Given the description of an element on the screen output the (x, y) to click on. 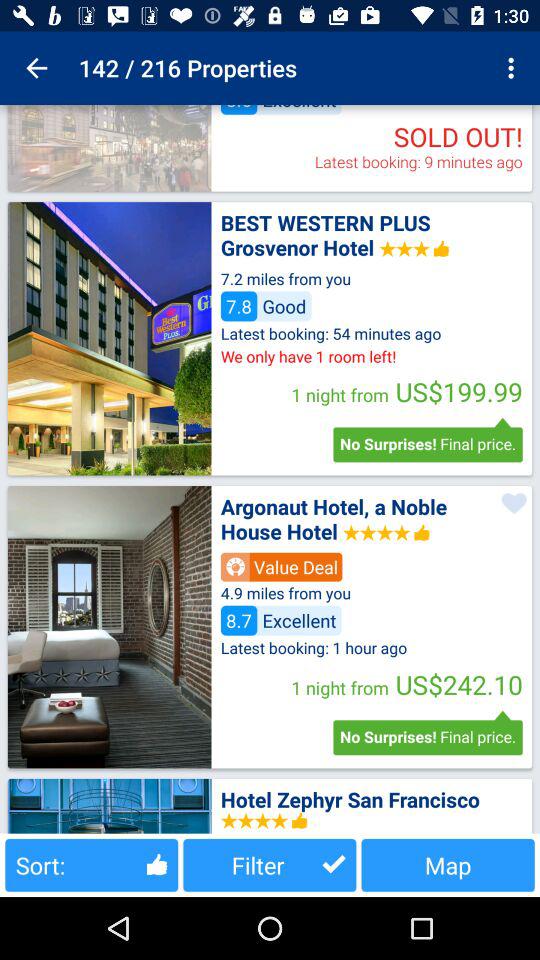
display picture of hotel (109, 148)
